Given the description of an element on the screen output the (x, y) to click on. 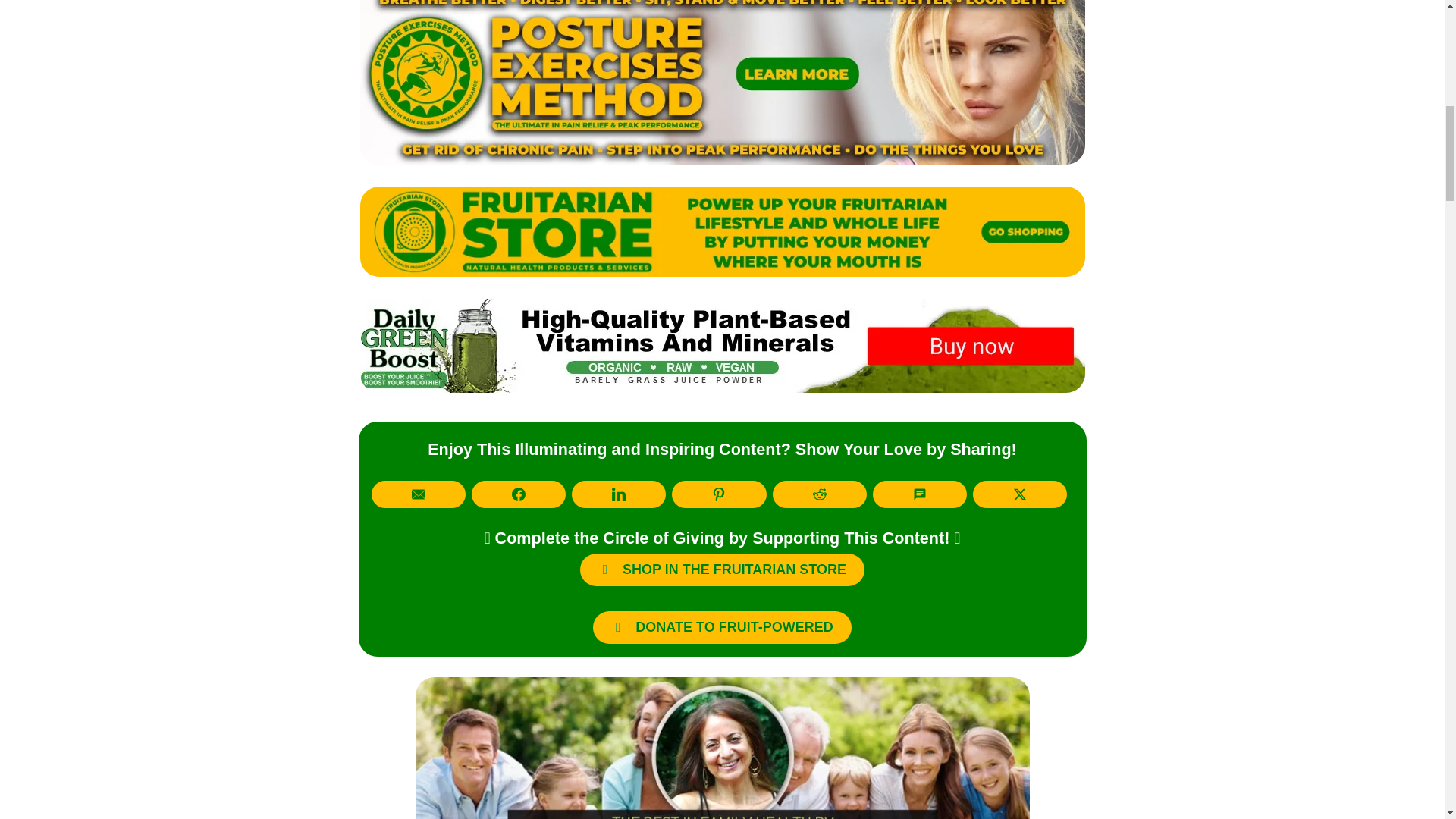
Share on LinkedIn (618, 493)
Share on SMS (919, 493)
Share on Email (418, 493)
Share on Facebook (518, 493)
Share on Pinterest (718, 493)
Share on Reddit (819, 493)
Share on Twitter (1019, 493)
